Given the description of an element on the screen output the (x, y) to click on. 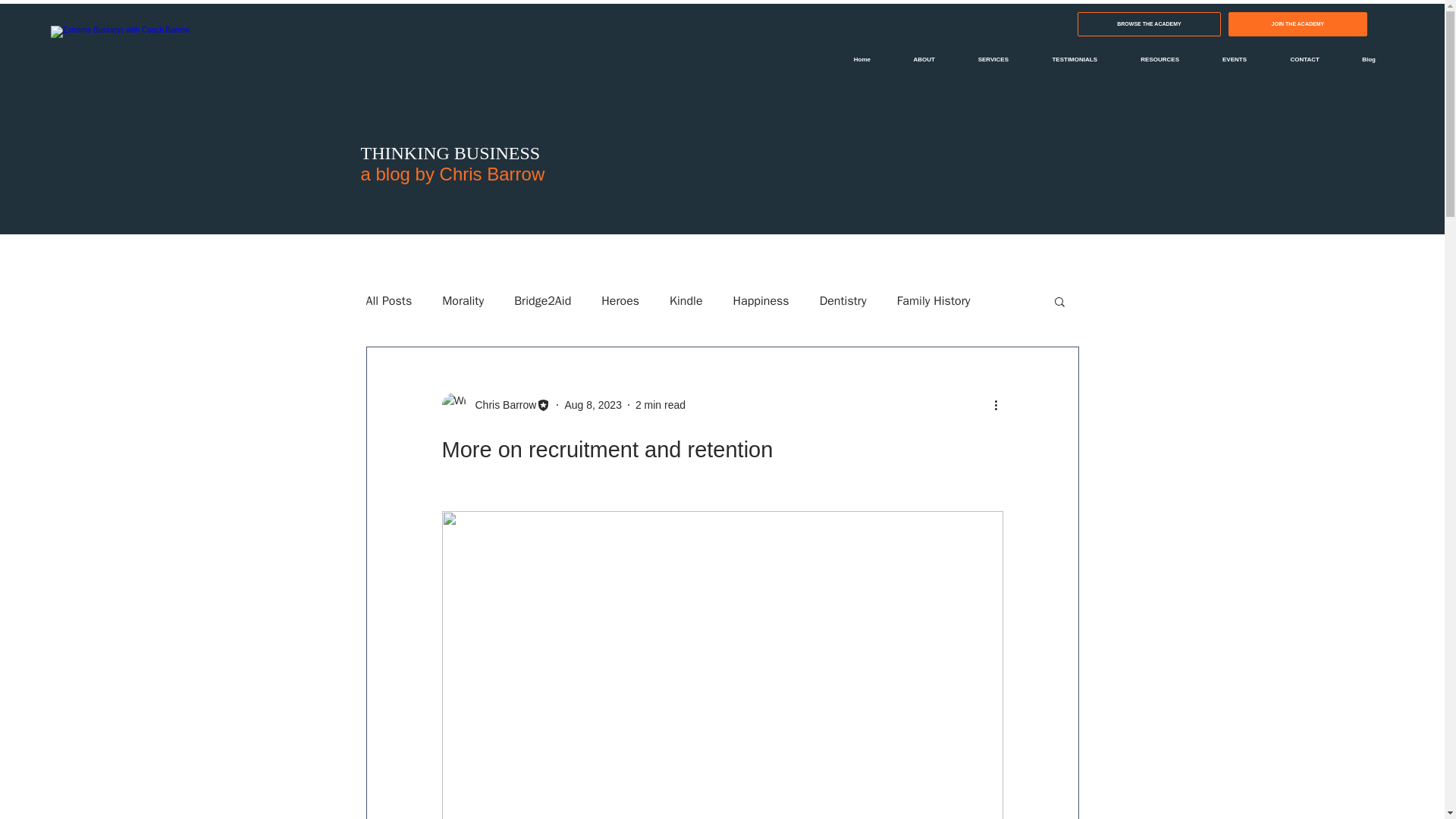
TESTIMONIALS (1064, 59)
JOIN THE ACADEMY (1297, 24)
All Posts (388, 300)
Family History (933, 300)
BROWSE THE ACADEMY (1149, 24)
Home (852, 59)
2 min read (659, 404)
CONTACT (1293, 59)
Happiness (761, 300)
Kindle (685, 300)
Blog (1358, 59)
ABOUT (914, 59)
Aug 8, 2023 (592, 404)
Chris Barrow (500, 405)
Dentistry (842, 300)
